Given the description of an element on the screen output the (x, y) to click on. 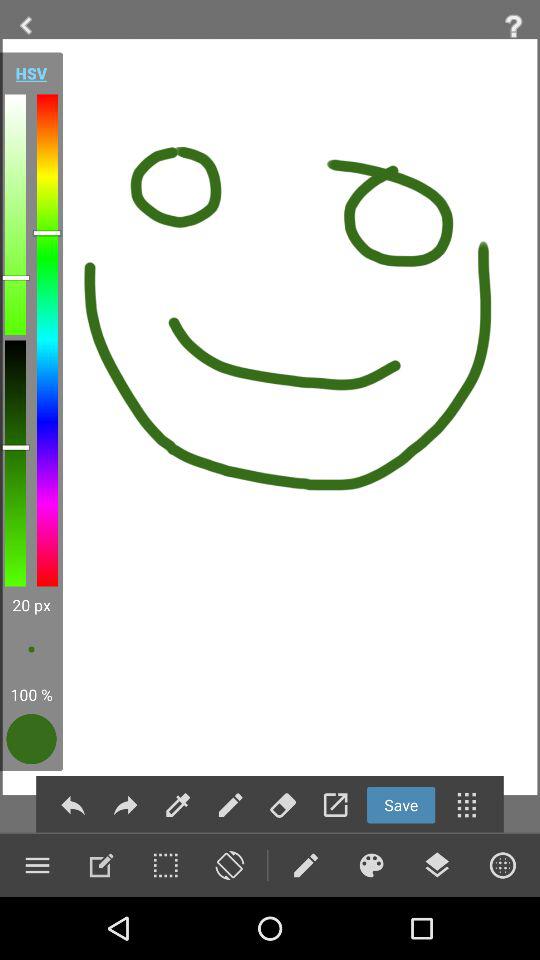
eraser option (282, 804)
